Given the description of an element on the screen output the (x, y) to click on. 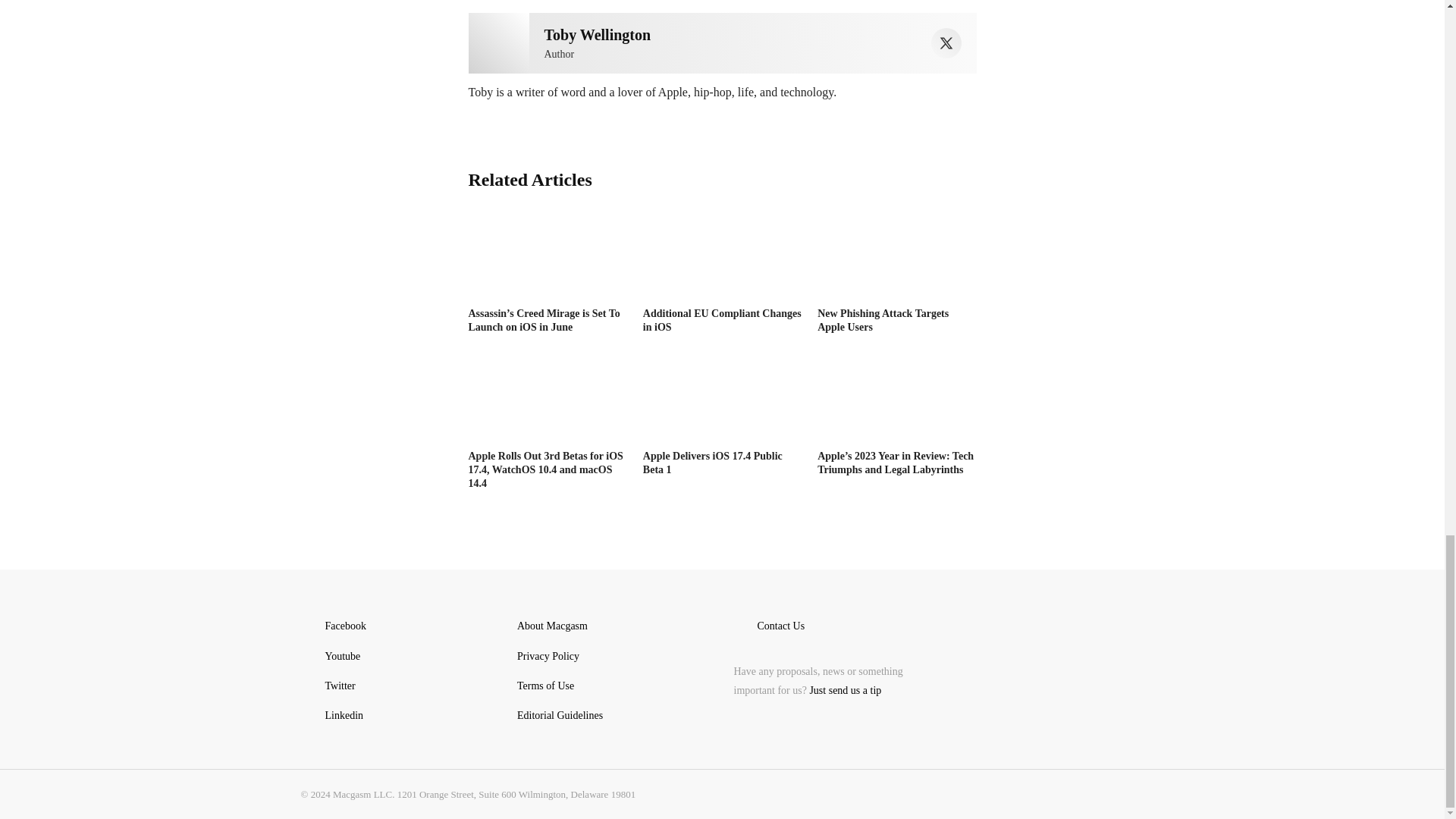
Toby Wellington (597, 34)
Additional EU Compliant Changes in iOS (722, 257)
Toby Wellington (498, 43)
Twitter (945, 42)
Additional EU Compliant Changes in iOS (722, 319)
